Given the description of an element on the screen output the (x, y) to click on. 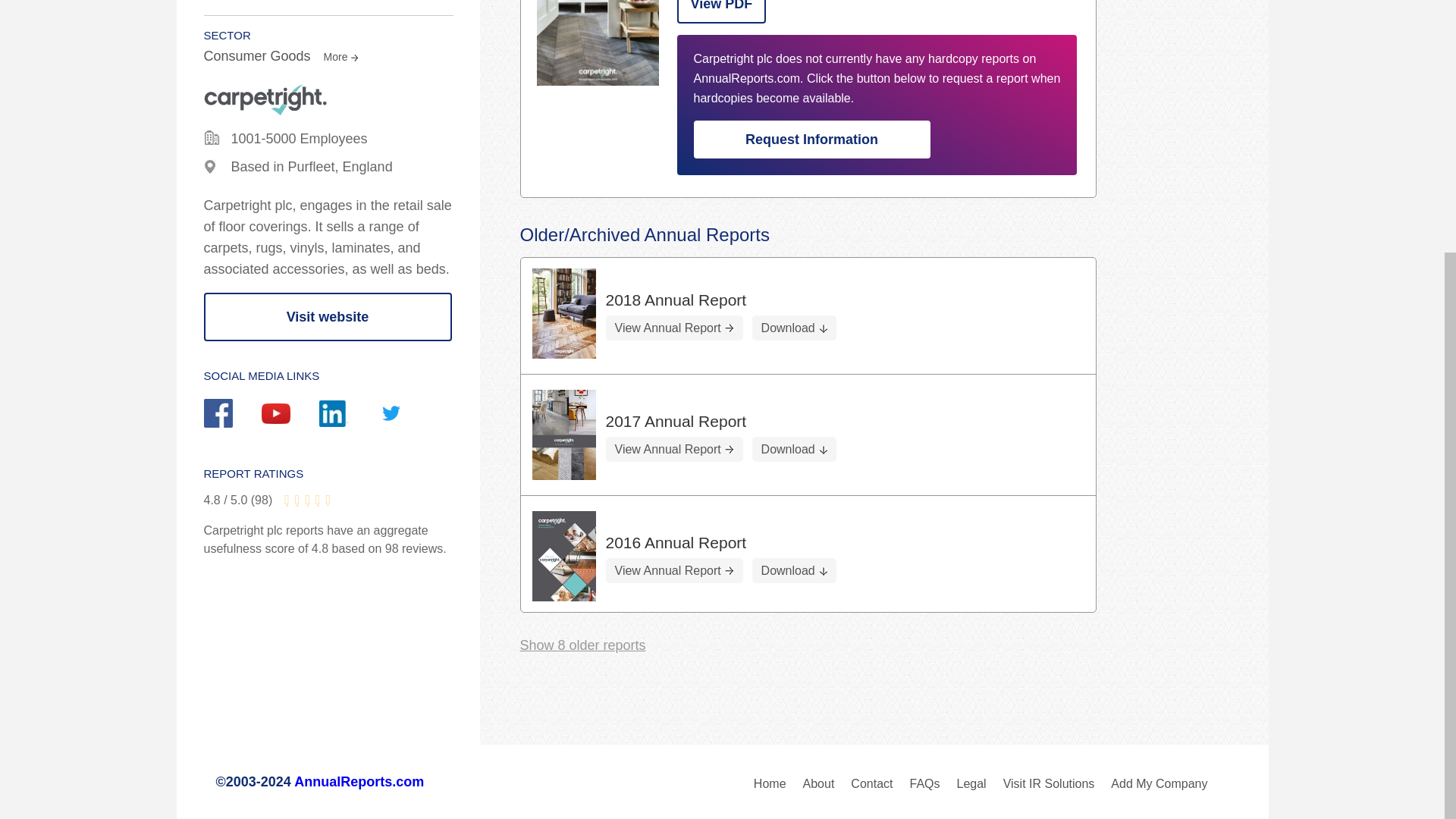
More (339, 56)
View Annual Report (673, 570)
Visit Carpetright plc on Facebook (231, 414)
Visit website (327, 316)
View Annual Report (673, 327)
Carpetright plc (598, 42)
Visit Carpetright plc on Twitter (404, 414)
Download (793, 570)
Visit Carpetright plc on Youtube (289, 415)
Visit Carpetright plc on LinkedIn (346, 415)
View PDF (721, 11)
Download (793, 448)
Download (793, 327)
View Annual Report (673, 448)
Request Information (811, 139)
